Given the description of an element on the screen output the (x, y) to click on. 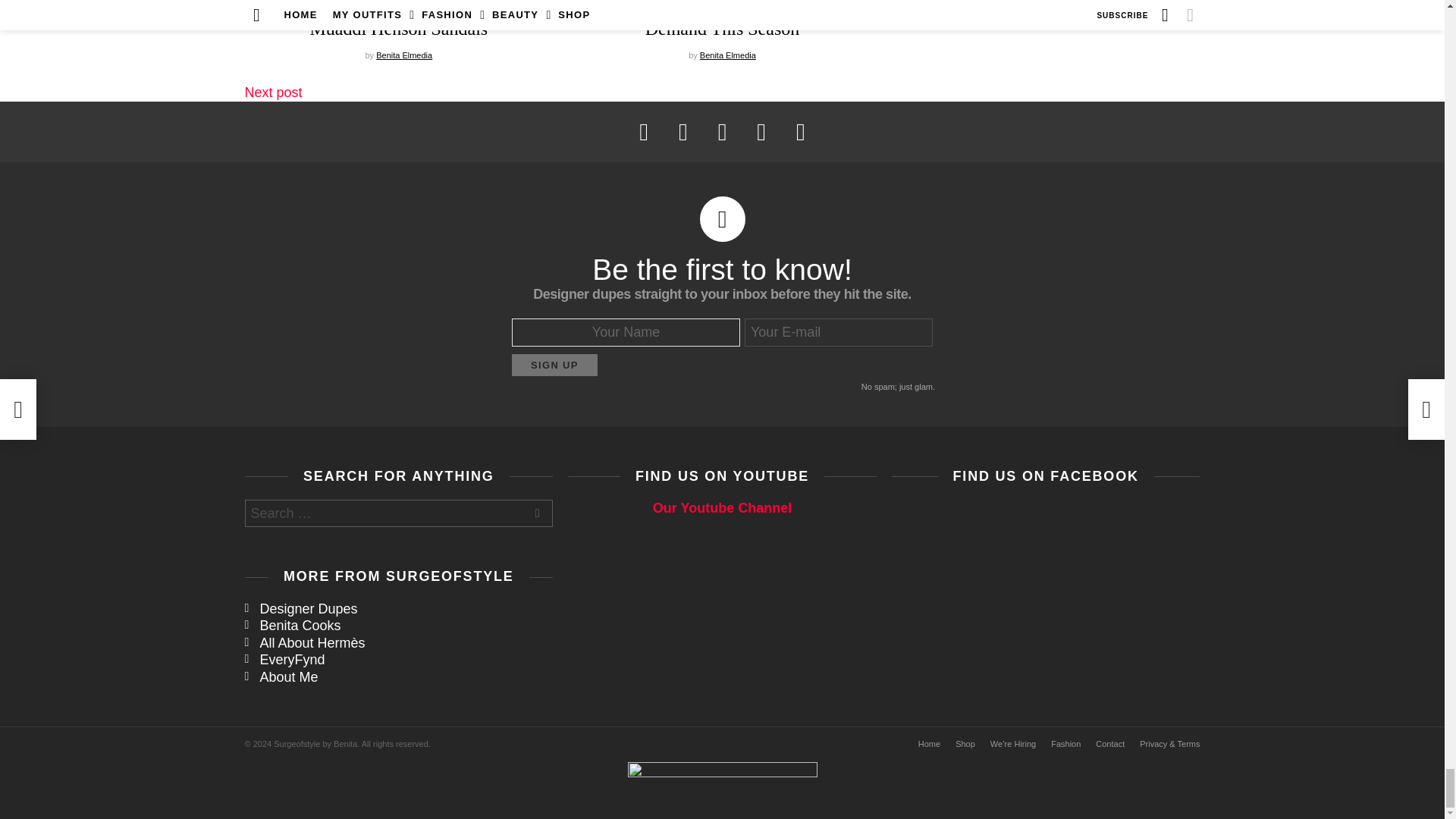
Sign Up (554, 364)
